Given the description of an element on the screen output the (x, y) to click on. 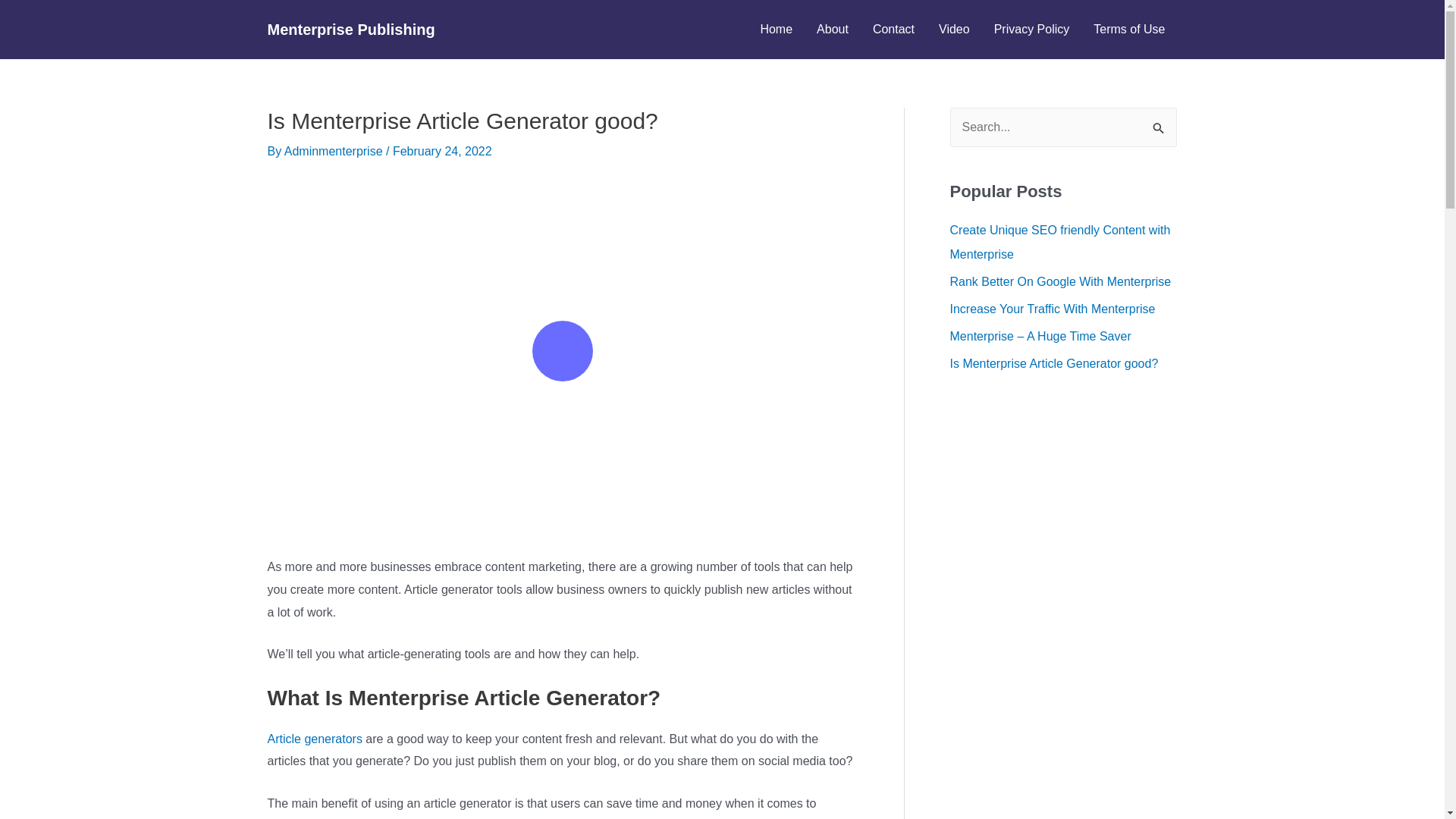
Video (953, 29)
Adminmenterprise (334, 151)
Contact (893, 29)
Search (1158, 123)
Menterprise Publishing (349, 29)
Privacy Policy (1031, 29)
Article generators (313, 738)
Home (776, 29)
View all posts by Adminmenterprise (334, 151)
About (832, 29)
Terms of Use (1128, 29)
Search (1158, 123)
